Given the description of an element on the screen output the (x, y) to click on. 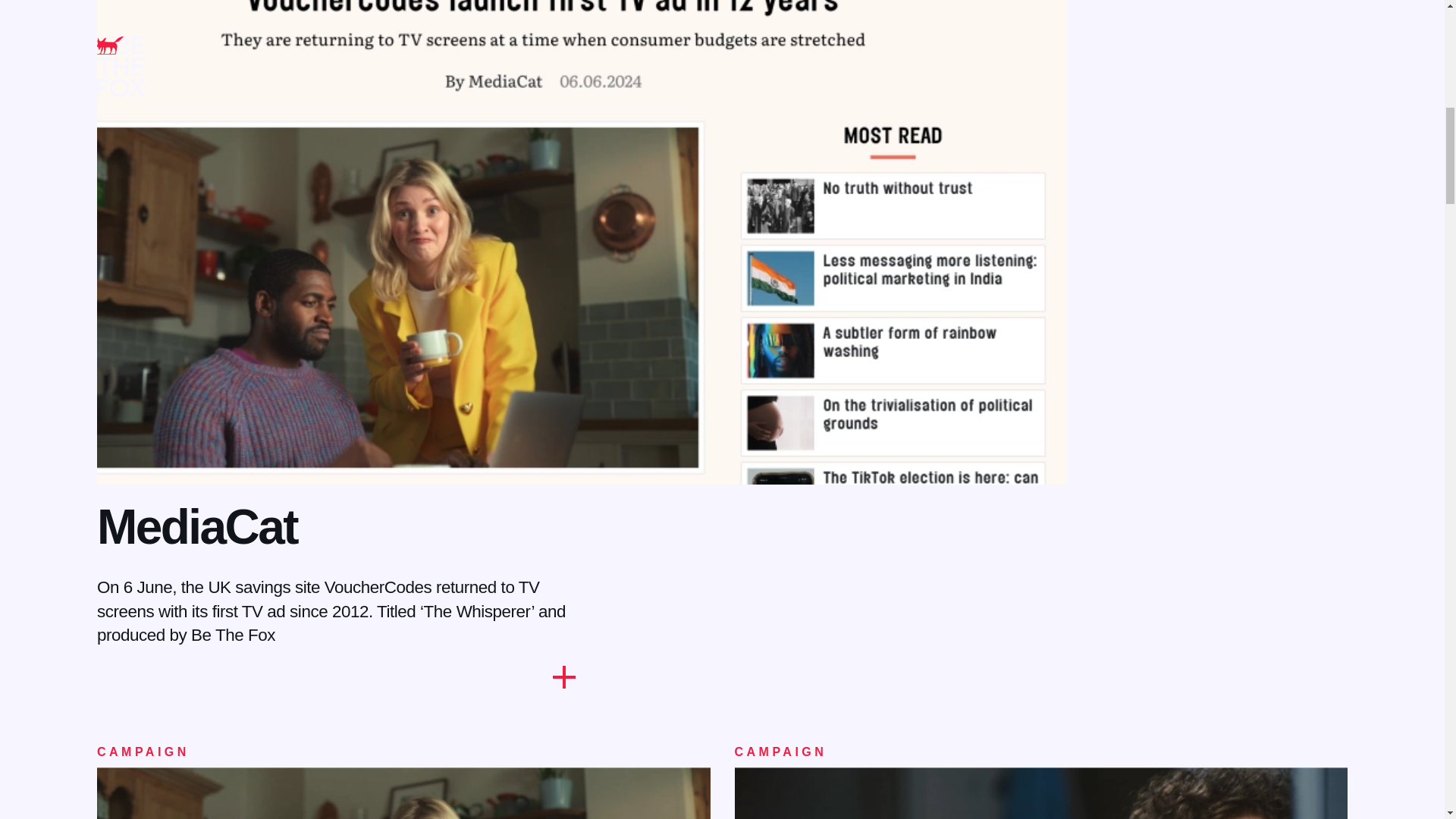
MediaCat (197, 526)
